Given the description of an element on the screen output the (x, y) to click on. 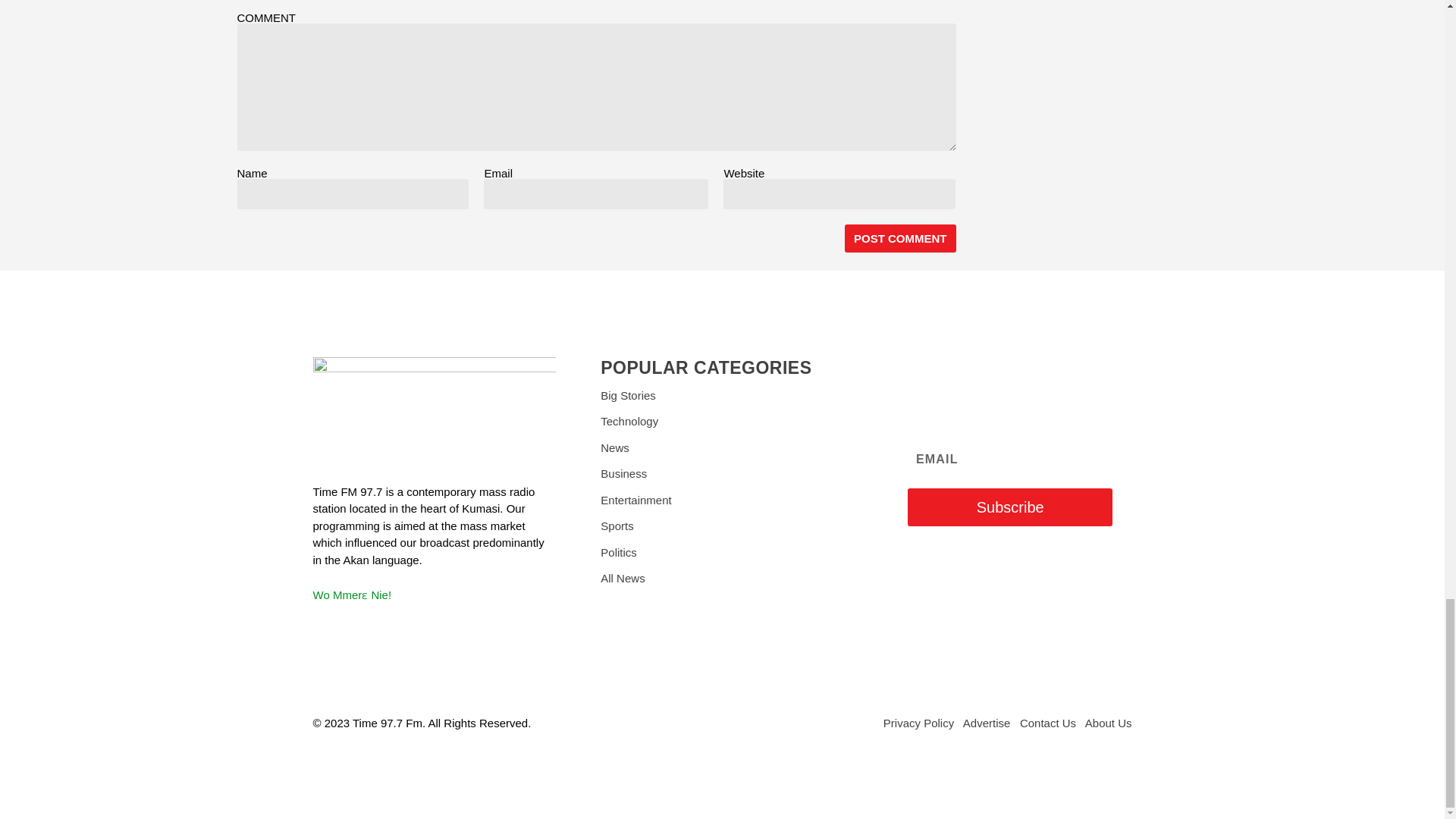
Post Comment (900, 238)
